Given the description of an element on the screen output the (x, y) to click on. 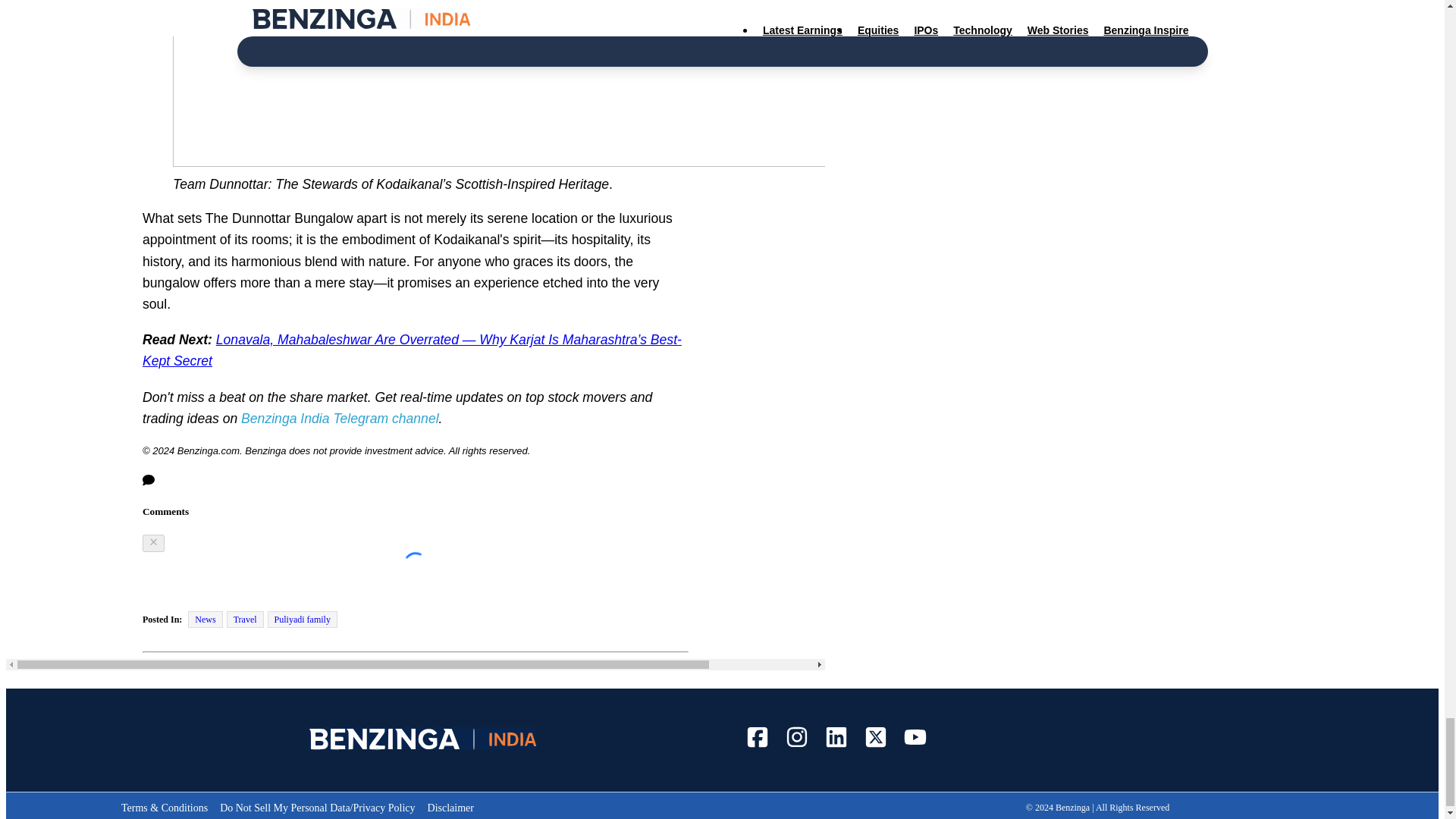
News (204, 619)
Benzinga India Telegram channel (340, 418)
Close menu (153, 542)
Travel (245, 619)
Disclaimer (451, 808)
Puliyadi family (302, 619)
